Given the description of an element on the screen output the (x, y) to click on. 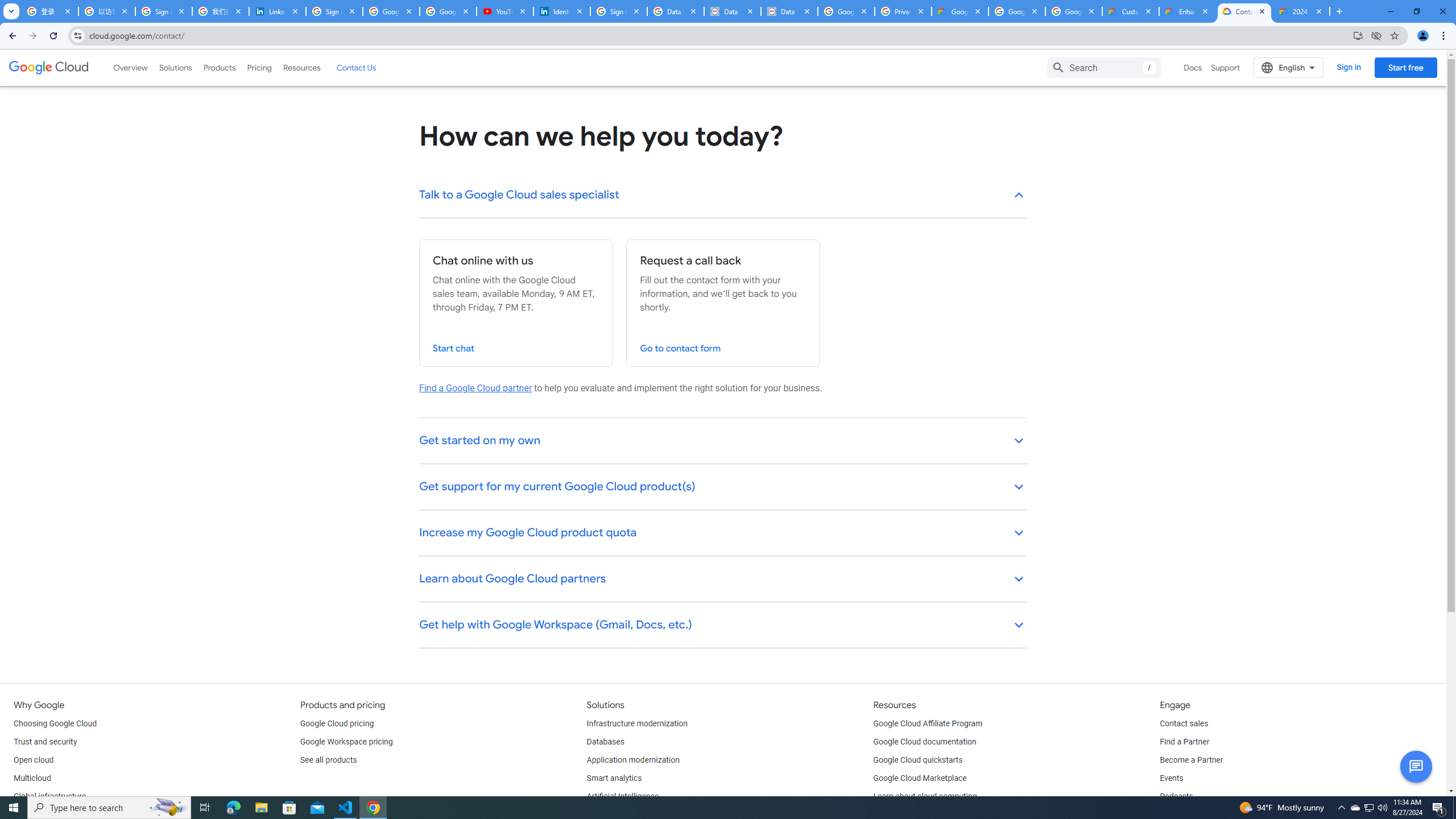
Google Workspace pricing (346, 742)
Podcasts (1175, 796)
Learn about Google Cloud partners keyboard_arrow_down (723, 579)
LinkedIn Privacy Policy (277, 11)
Install Google Cloud (1358, 35)
Events (1170, 778)
Resources (301, 67)
Google Cloud Affiliate Program (927, 723)
Data Privacy Framework (731, 11)
Global infrastructure (49, 796)
